Given the description of an element on the screen output the (x, y) to click on. 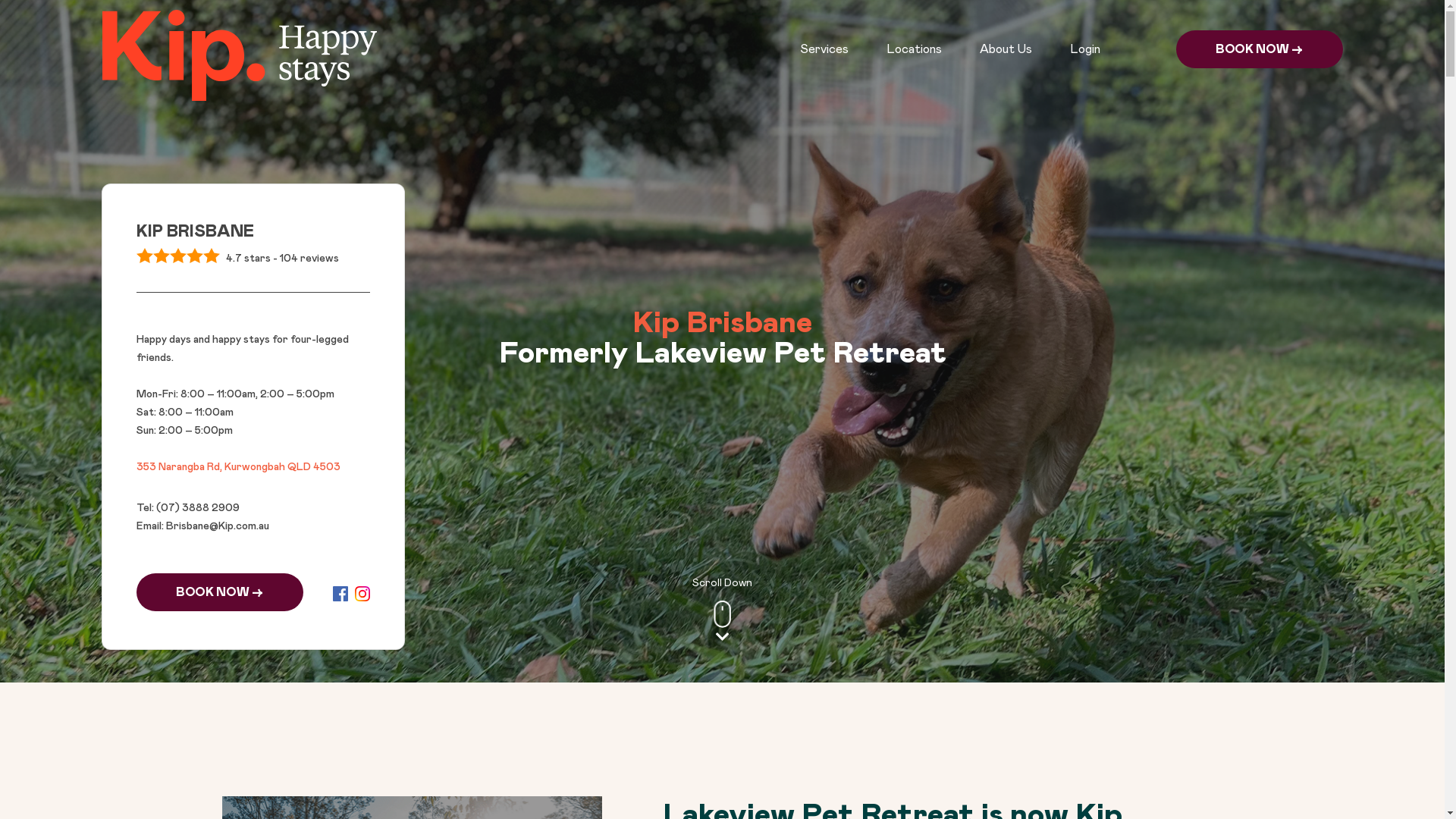
4.7 stars - 104 reviews Element type: text (253, 258)
Locations Element type: text (913, 49)
BOOK NOW Element type: text (219, 592)
Login Element type: text (1084, 49)
Services Element type: text (823, 49)
(07) 3888 2909 Element type: text (195, 507)
About Us Element type: text (1005, 49)
Brisbane@Kip.com.au Element type: text (216, 525)
353 Narangba Rd, Kurwongbah QLD 4503 Element type: text (238, 466)
BOOK NOW Element type: text (1258, 49)
